Given the description of an element on the screen output the (x, y) to click on. 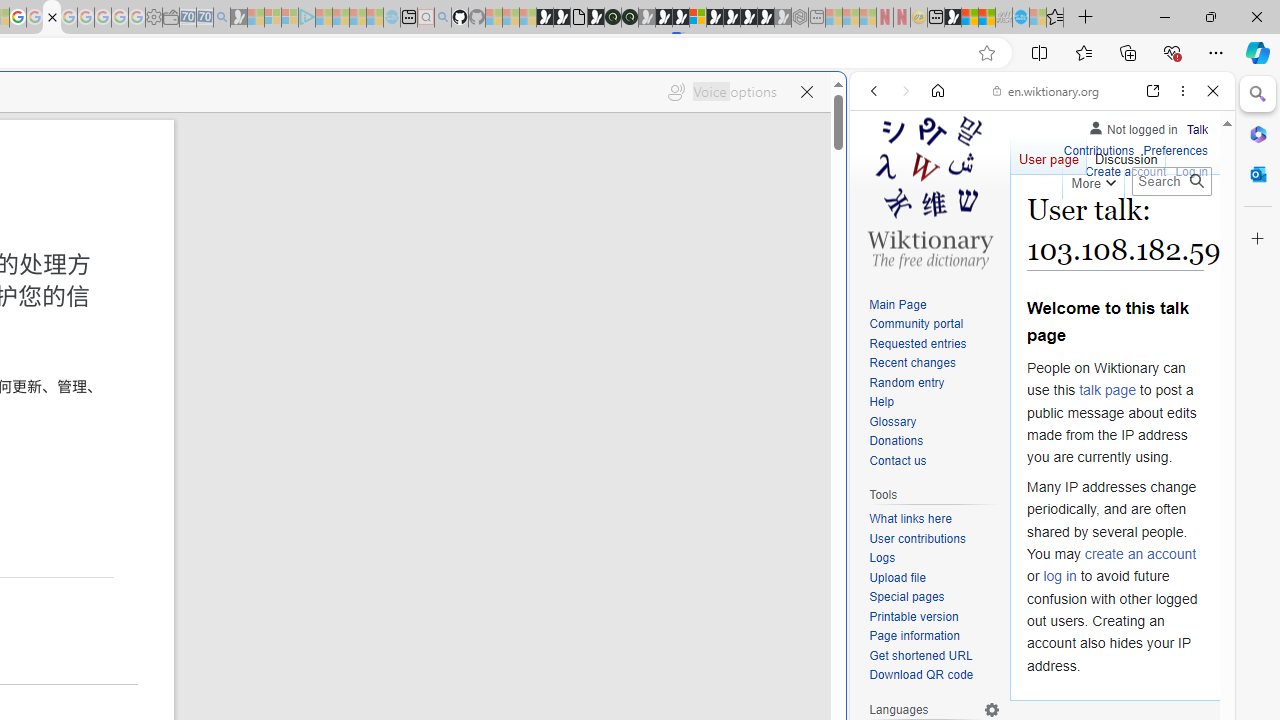
Wallet - Sleeping (170, 17)
Search Filter, VIDEOS (1006, 228)
github - Search - Sleeping (442, 17)
What links here (934, 519)
Download QR code (934, 676)
User page (1048, 154)
